Given the description of an element on the screen output the (x, y) to click on. 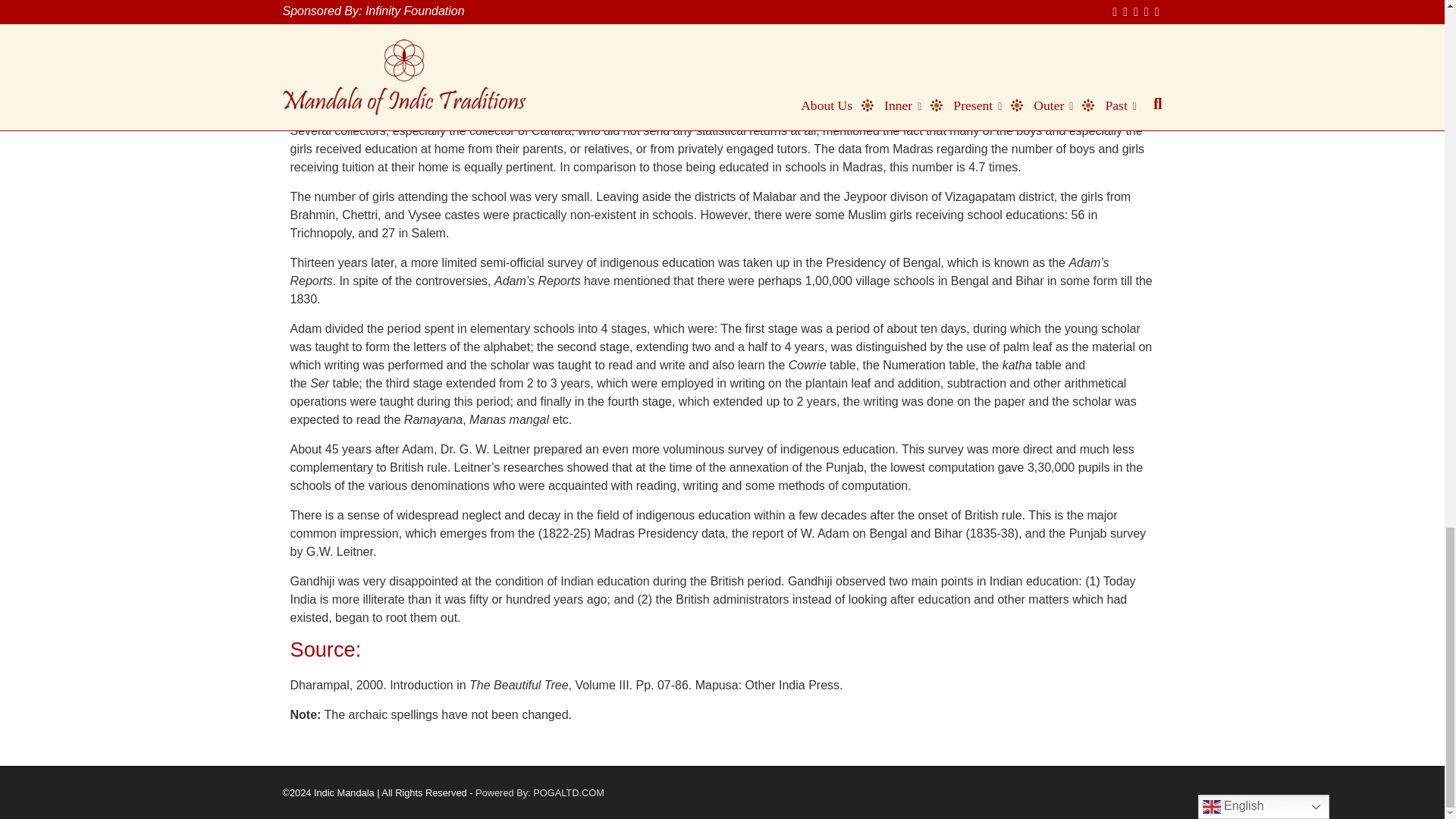
Powered By: POGALTD.COM (540, 792)
